Given the description of an element on the screen output the (x, y) to click on. 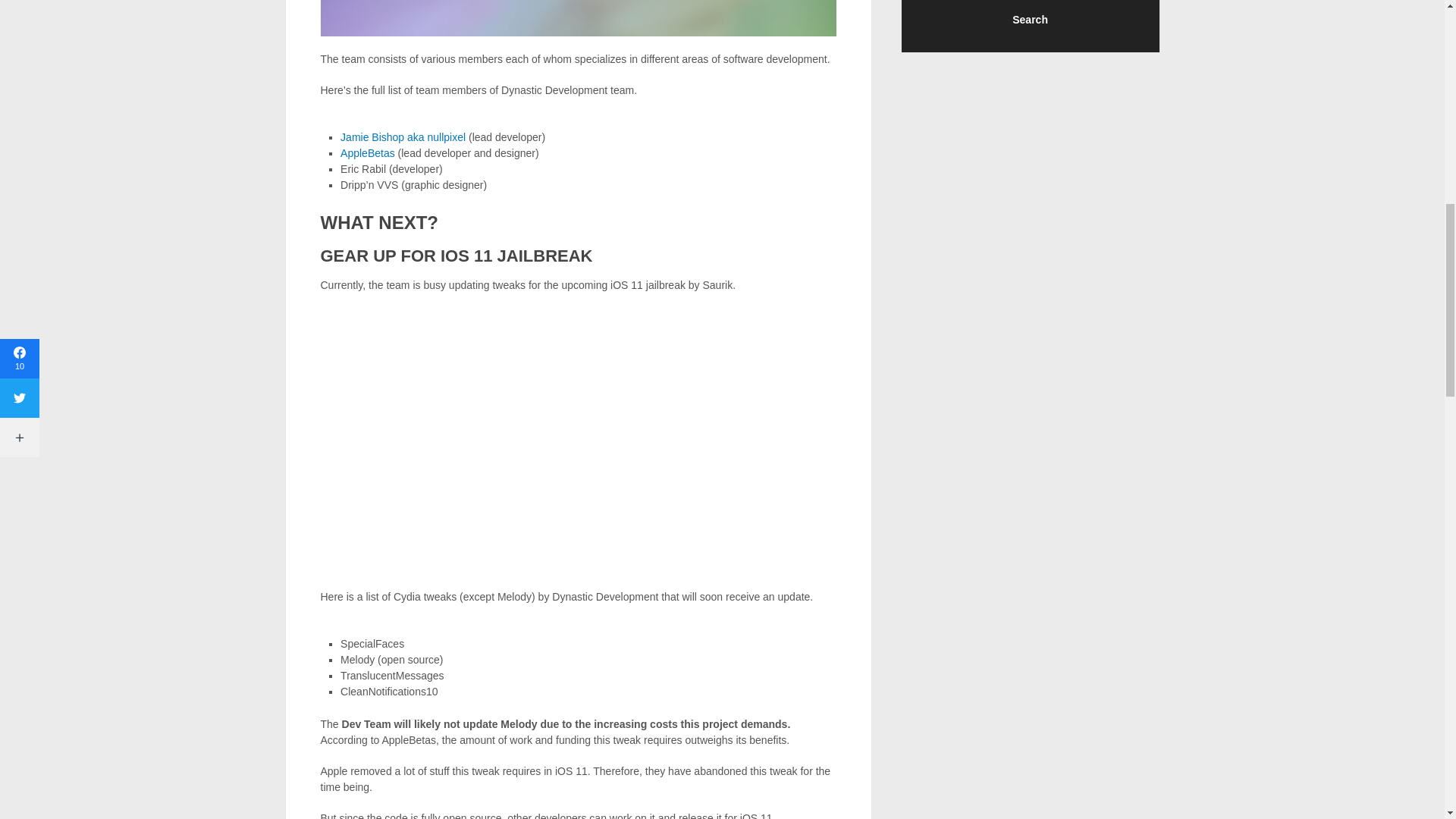
Jamie Bishop aka nullpixel (402, 137)
AppleBetas (367, 152)
